Given the description of an element on the screen output the (x, y) to click on. 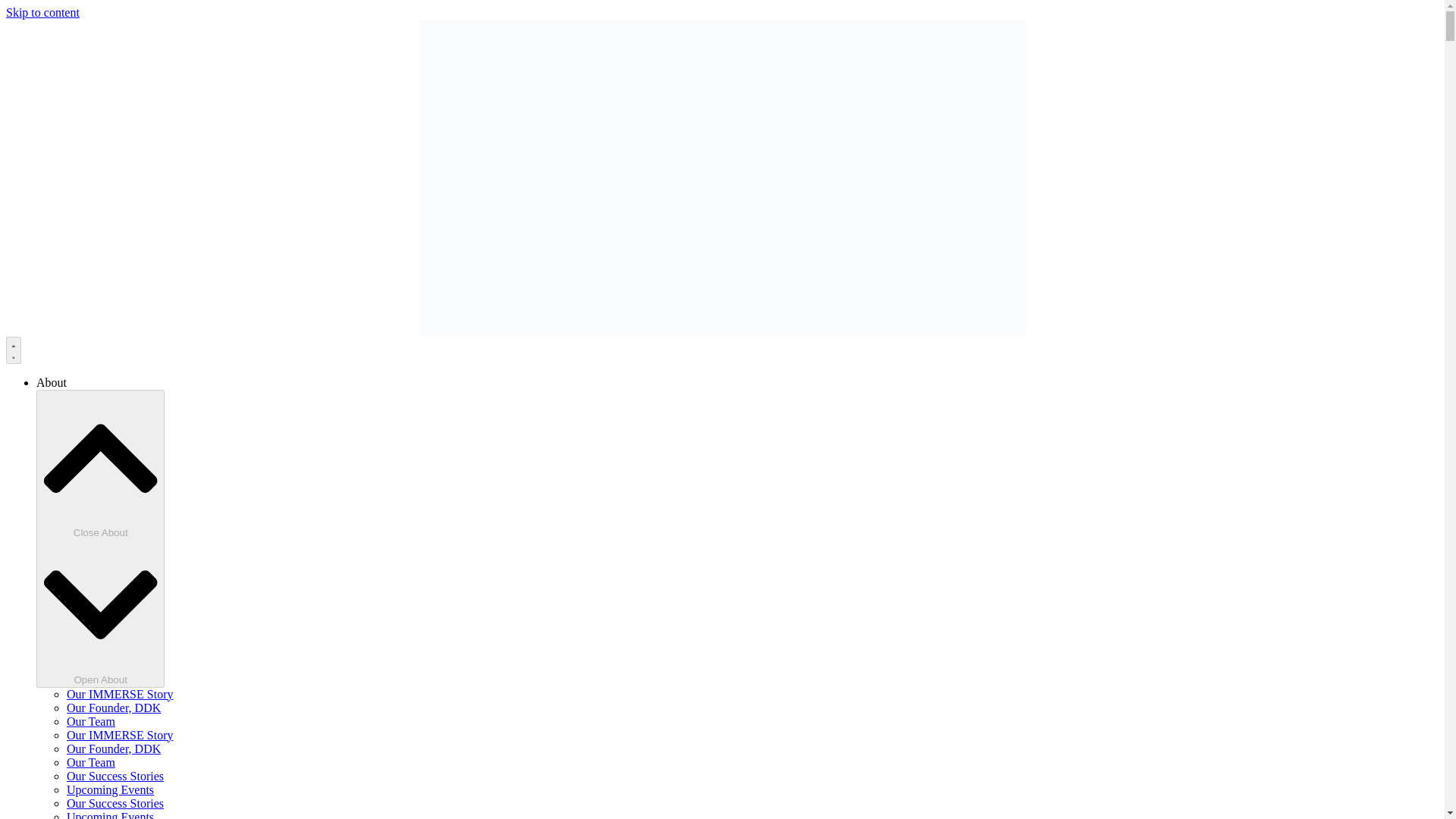
Our Success Stories (114, 775)
Our IMMERSE Story (119, 735)
Our Founder, DDK (113, 748)
Our IMMERSE Story (119, 694)
Our Founder, DDK (113, 707)
Our Team (90, 762)
Our Success Stories (114, 802)
Upcoming Events (110, 814)
Skip to content (42, 11)
Upcoming Events (110, 789)
Our Team (90, 721)
